Given the description of an element on the screen output the (x, y) to click on. 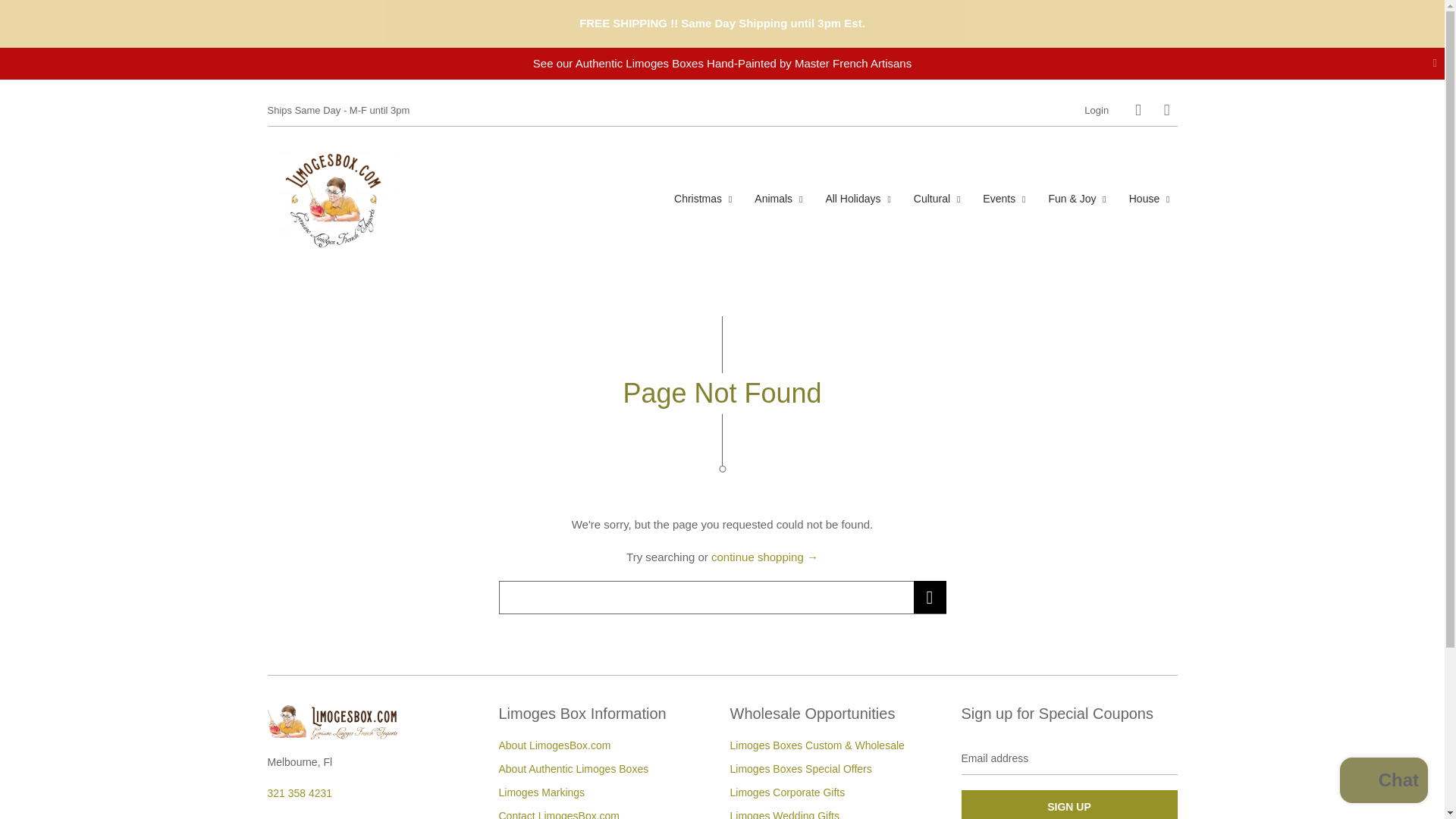
All Holidays (857, 198)
Christmas (702, 198)
Sign Up (1068, 804)
Cultural (936, 198)
Shopify online store chat (1383, 781)
Animals (777, 198)
My Account  (1096, 110)
Login (1096, 110)
